Given the description of an element on the screen output the (x, y) to click on. 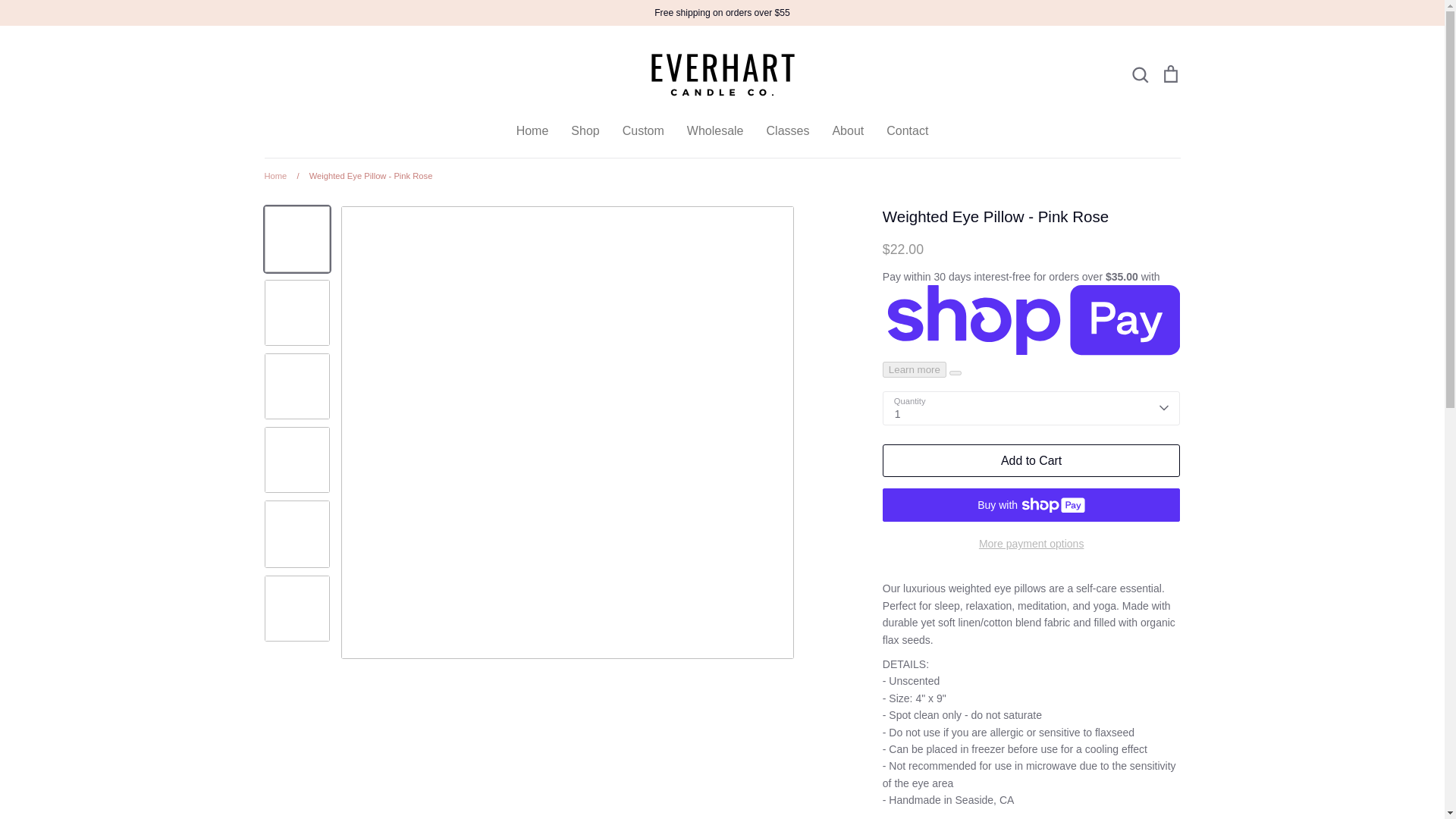
Home (274, 175)
Custom (643, 130)
Home (532, 130)
Cart (1169, 74)
Wholesale (715, 130)
Classes (788, 130)
About (847, 130)
Contact (907, 130)
Search (1139, 74)
Shop (584, 130)
